Given the description of an element on the screen output the (x, y) to click on. 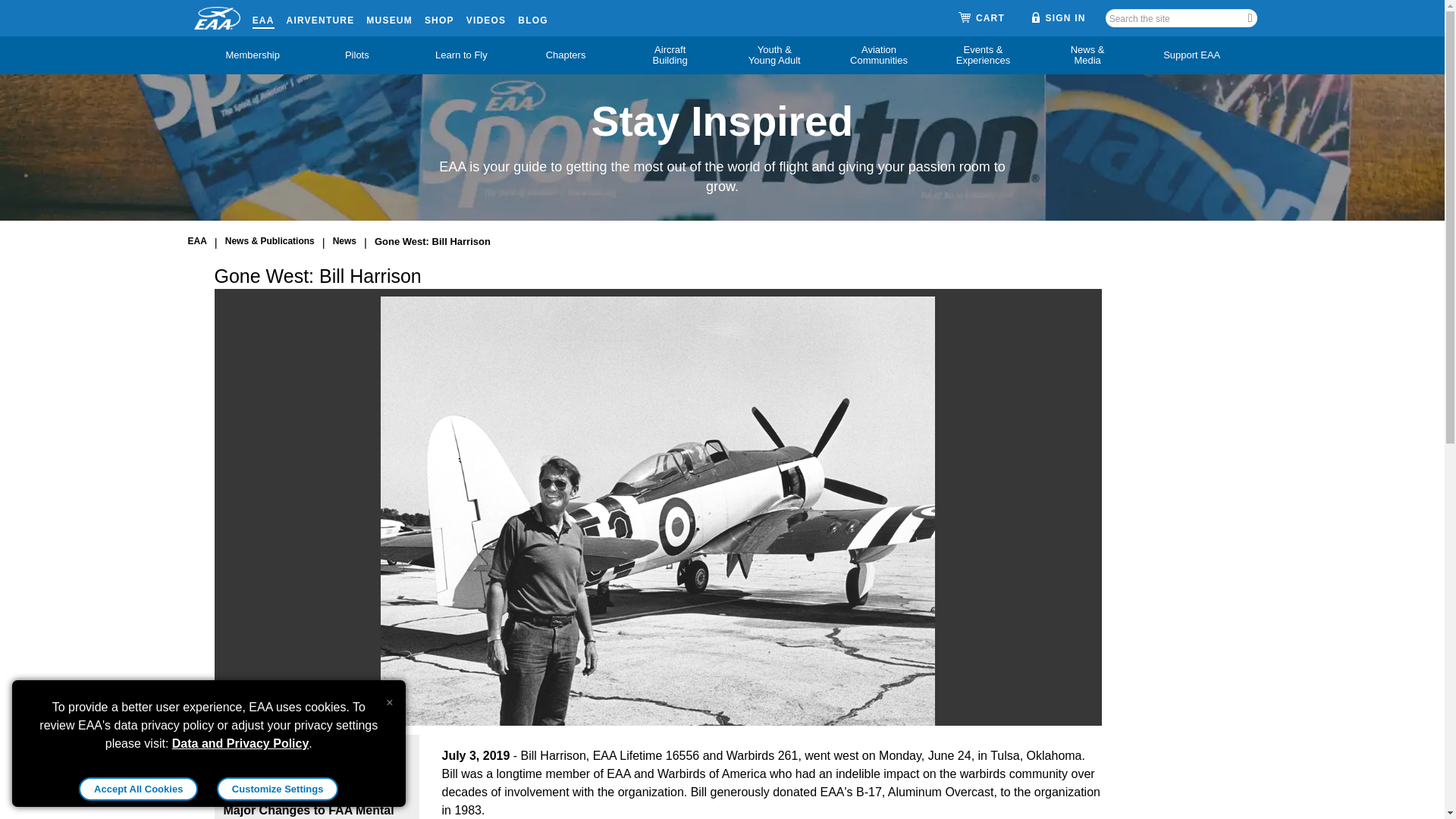
VIDEOS (485, 17)
SIGN IN (1059, 18)
EAA (263, 17)
SHOP (439, 17)
MUSEUM (389, 17)
AIRVENTURE (320, 17)
CART (980, 18)
BLOG (532, 17)
